Given the description of an element on the screen output the (x, y) to click on. 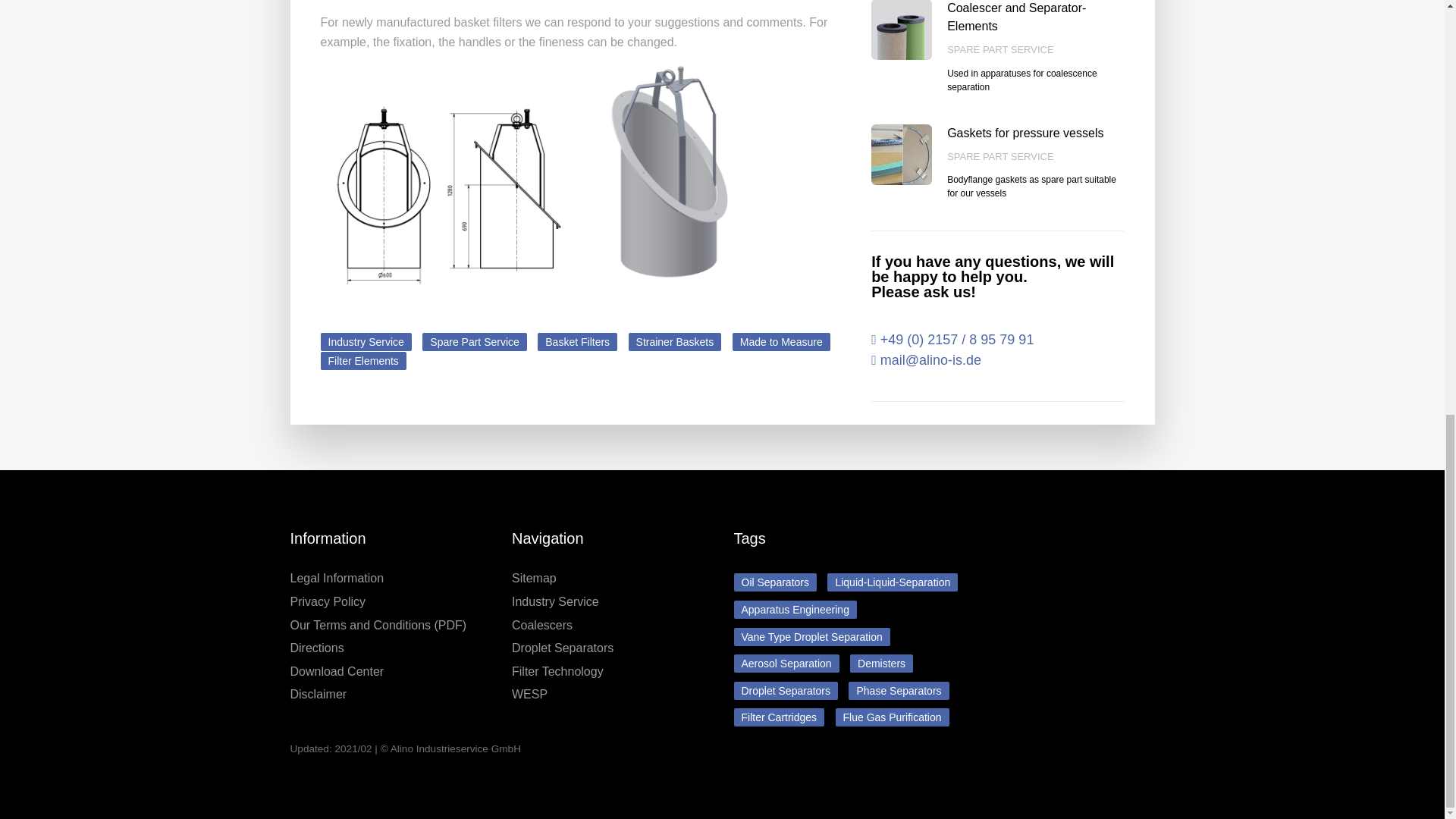
Industry Service (365, 341)
Basket Filters (577, 341)
Spare Part Service (474, 341)
